Given the description of an element on the screen output the (x, y) to click on. 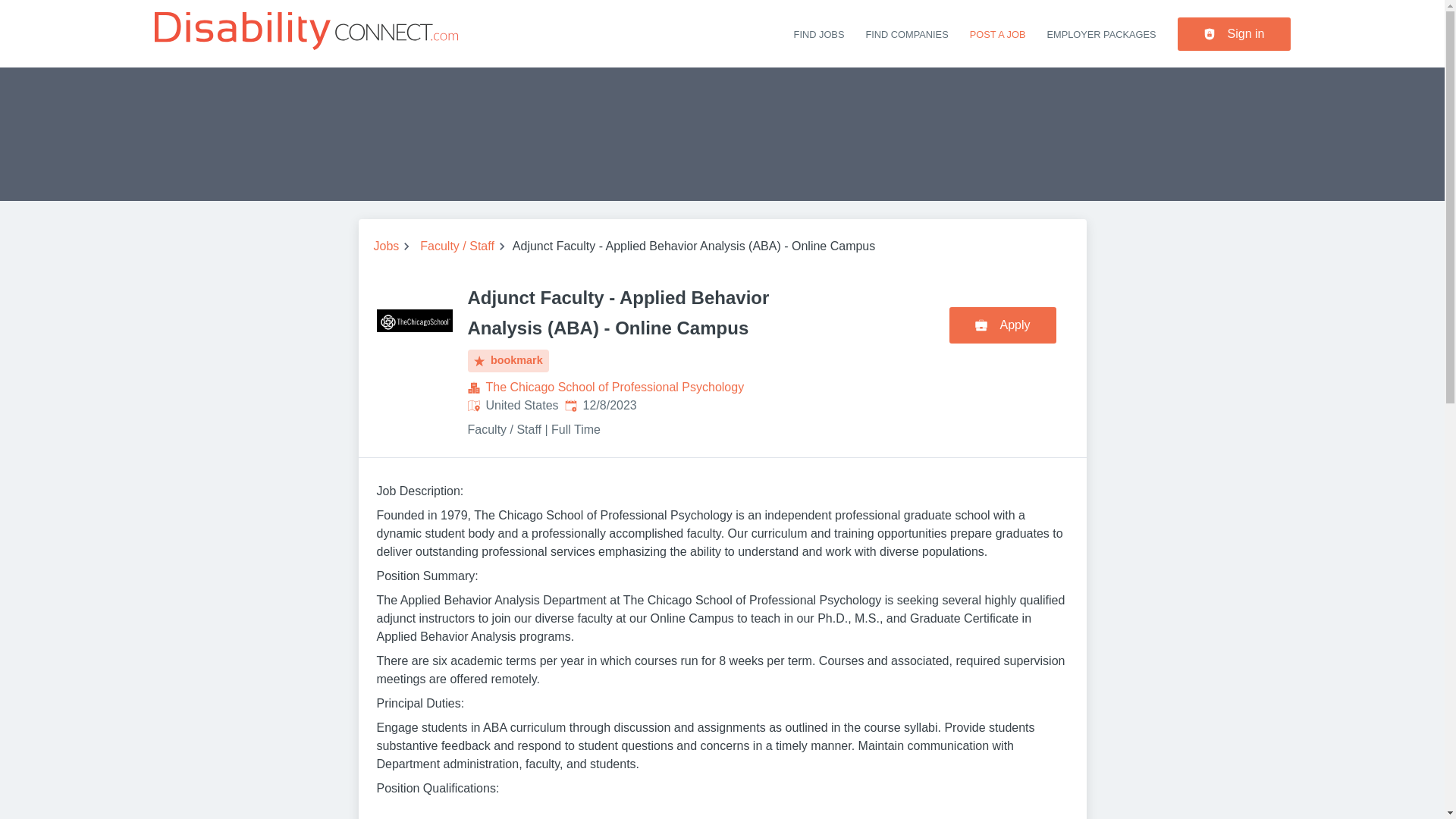
bookmark (507, 360)
FIND COMPANIES (905, 34)
bookmark (507, 360)
Apply (1002, 325)
Sign in (1233, 32)
EMPLOYER PACKAGES (1101, 34)
Jobs (385, 246)
POST A JOB (997, 34)
FIND JOBS (818, 34)
Apply (1002, 325)
The Chicago School of Professional Psychology (614, 387)
Apply (1005, 322)
